Given the description of an element on the screen output the (x, y) to click on. 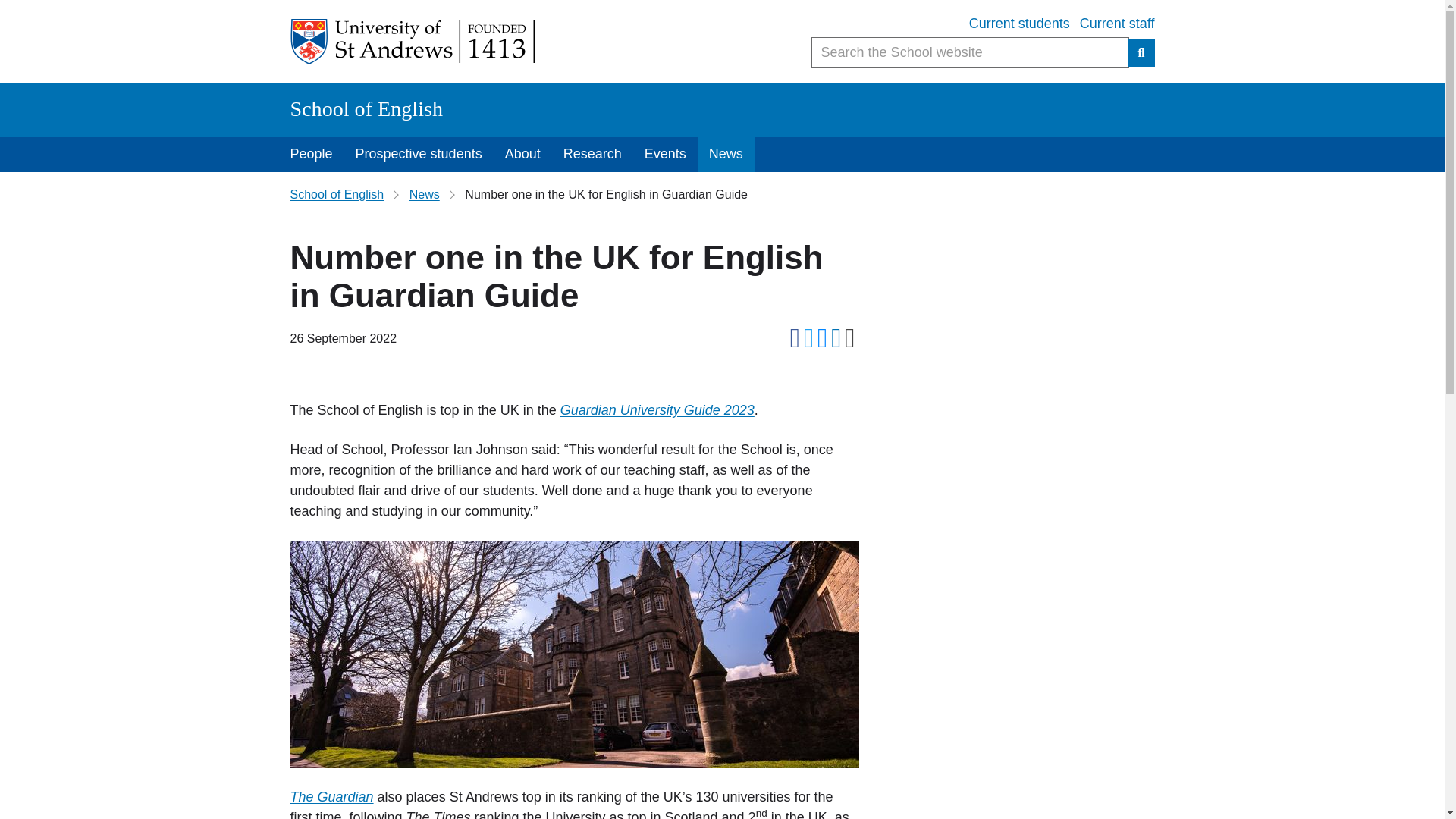
Search (1141, 51)
School of English (365, 108)
Current students (1019, 23)
News (725, 153)
Events (665, 153)
News (424, 194)
School of English (336, 194)
People (311, 153)
Guardian University Guide 2023 (657, 409)
Current staff (1117, 23)
The Guardian (330, 796)
About (522, 153)
Prospective students (418, 153)
Enter search keywords (969, 51)
Research (592, 153)
